Given the description of an element on the screen output the (x, y) to click on. 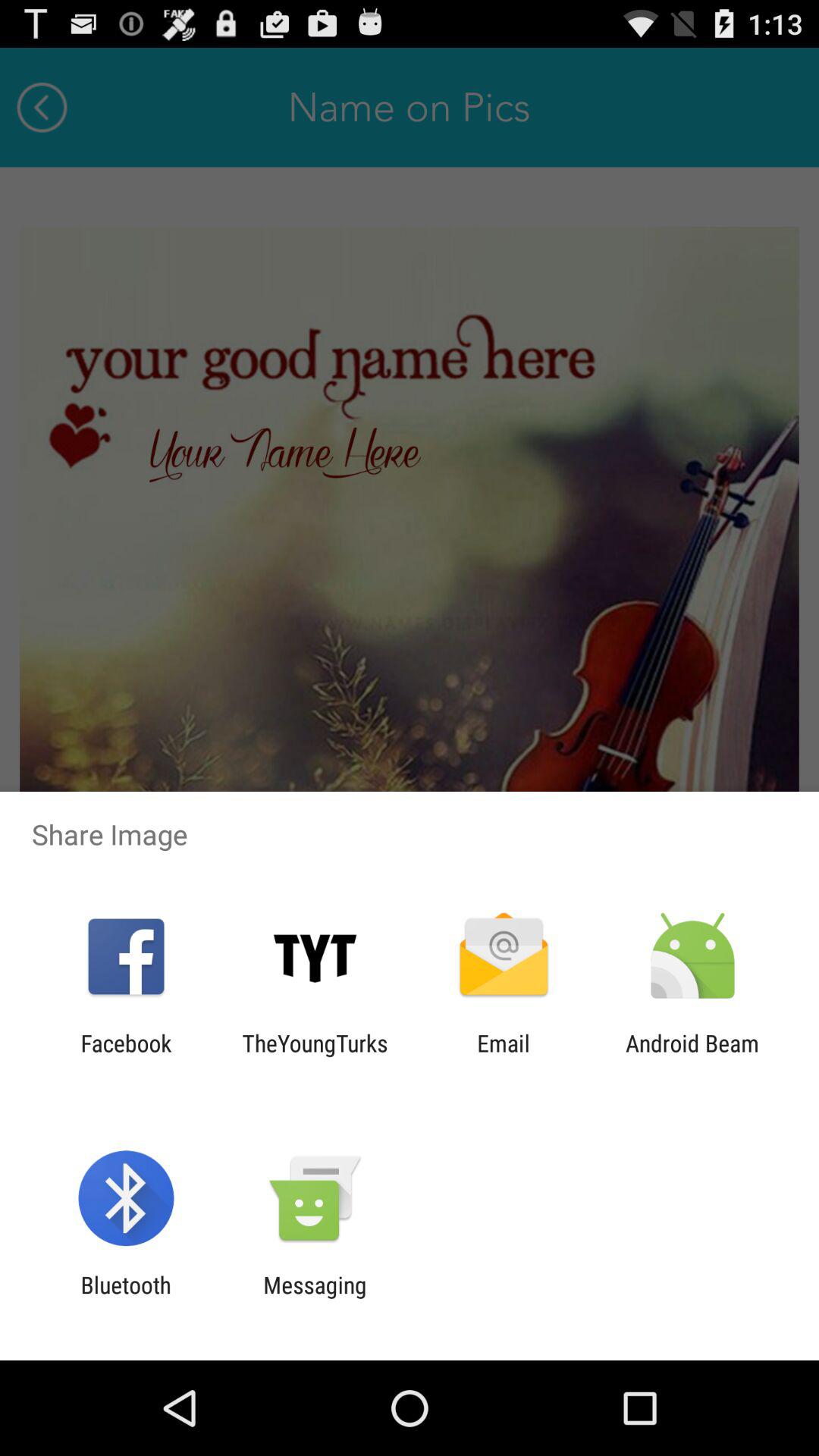
launch the icon to the left of the android beam icon (503, 1056)
